Given the description of an element on the screen output the (x, y) to click on. 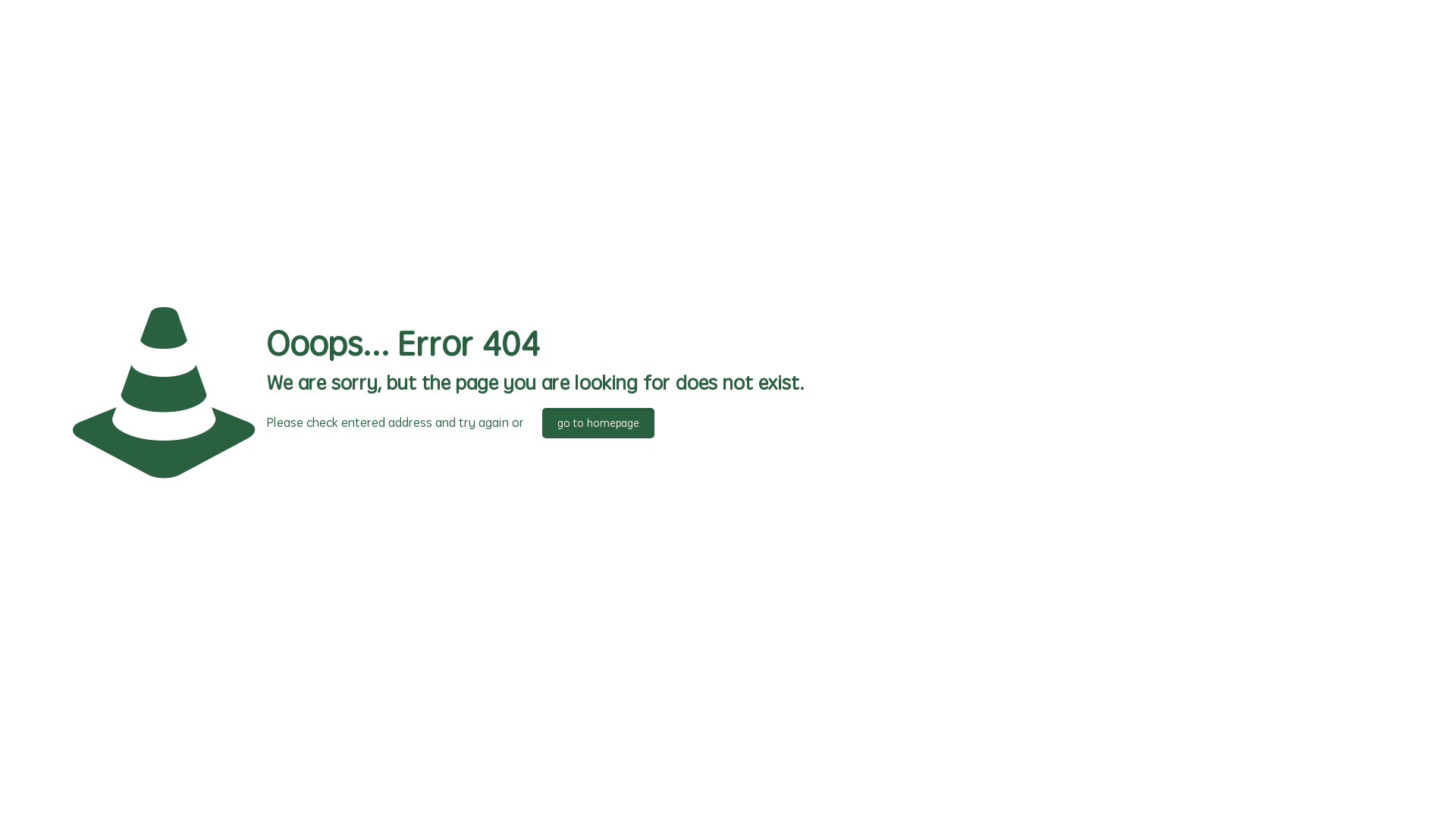
go to homepage Element type: text (598, 422)
